Given the description of an element on the screen output the (x, y) to click on. 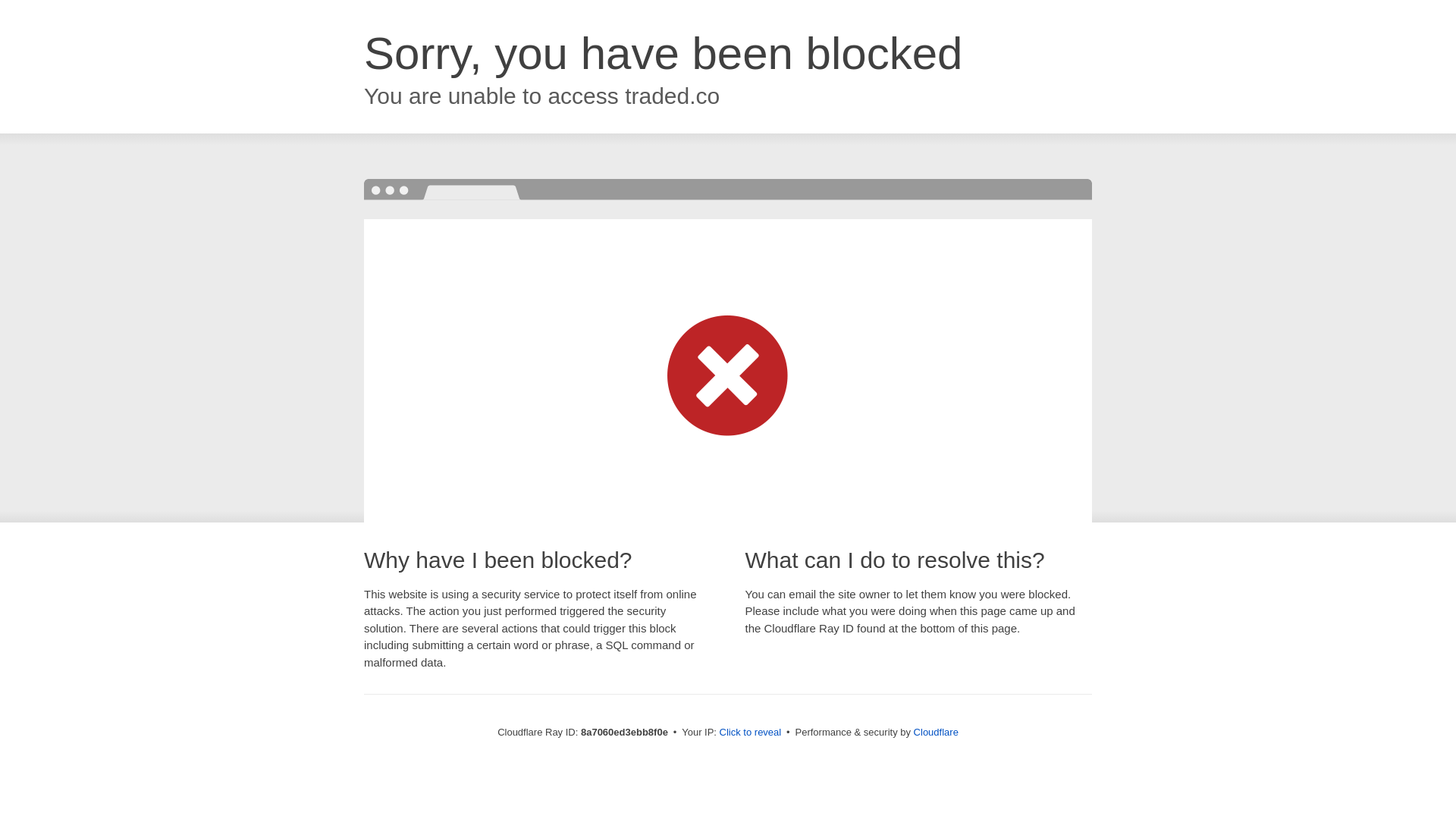
Cloudflare (936, 731)
Click to reveal (750, 732)
